Given the description of an element on the screen output the (x, y) to click on. 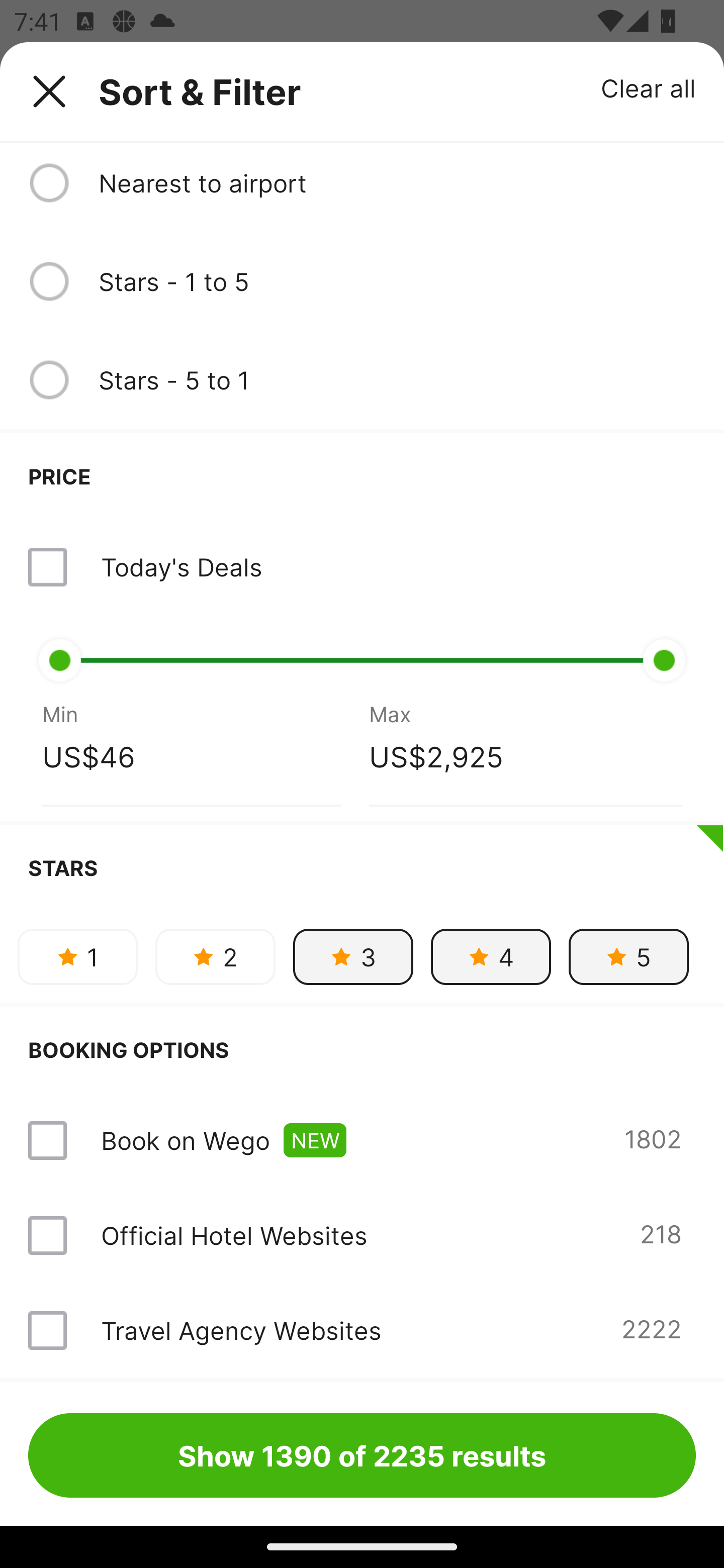
Clear all (648, 87)
Nearest to airport (396, 182)
Stars - 1 to 5 (396, 281)
Stars - 5 to 1 (396, 380)
Today's Deals (362, 566)
Today's Deals (181, 566)
1 (77, 956)
2 (214, 956)
3 (352, 956)
4 (491, 956)
5 (627, 956)
Book on Wego NEW 1802 (362, 1140)
Book on Wego (184, 1139)
Official Hotel Websites 218 (362, 1235)
Official Hotel Websites (233, 1235)
Travel Agency Websites 2222 (362, 1330)
Travel Agency Websites (240, 1330)
Show 1390 of 2235 results (361, 1454)
